Given the description of an element on the screen output the (x, y) to click on. 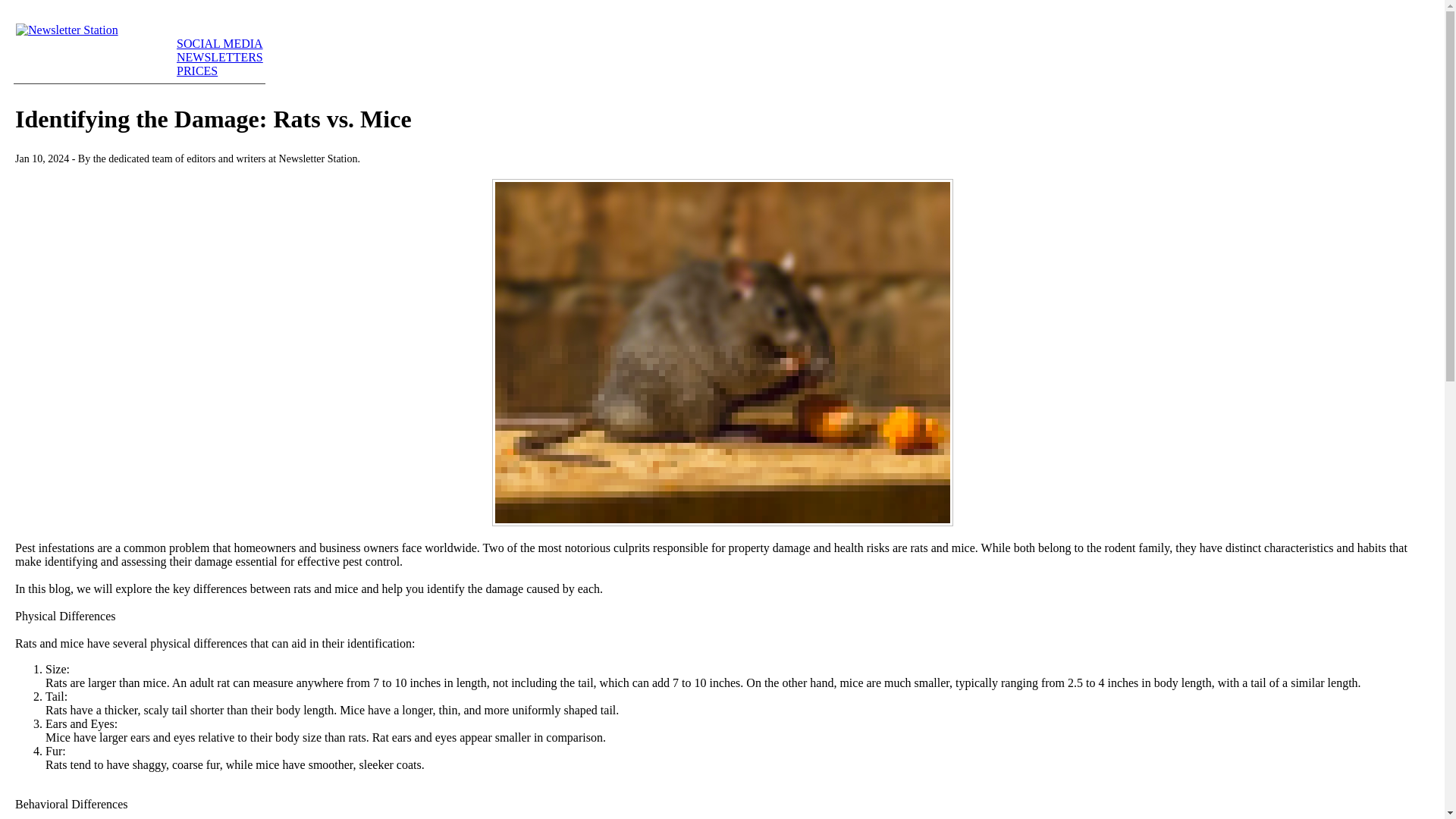
SIGN UP (200, 29)
PRICES (196, 70)
NEWSLETTERS (219, 56)
SOCIAL MEDIA (219, 42)
